Given the description of an element on the screen output the (x, y) to click on. 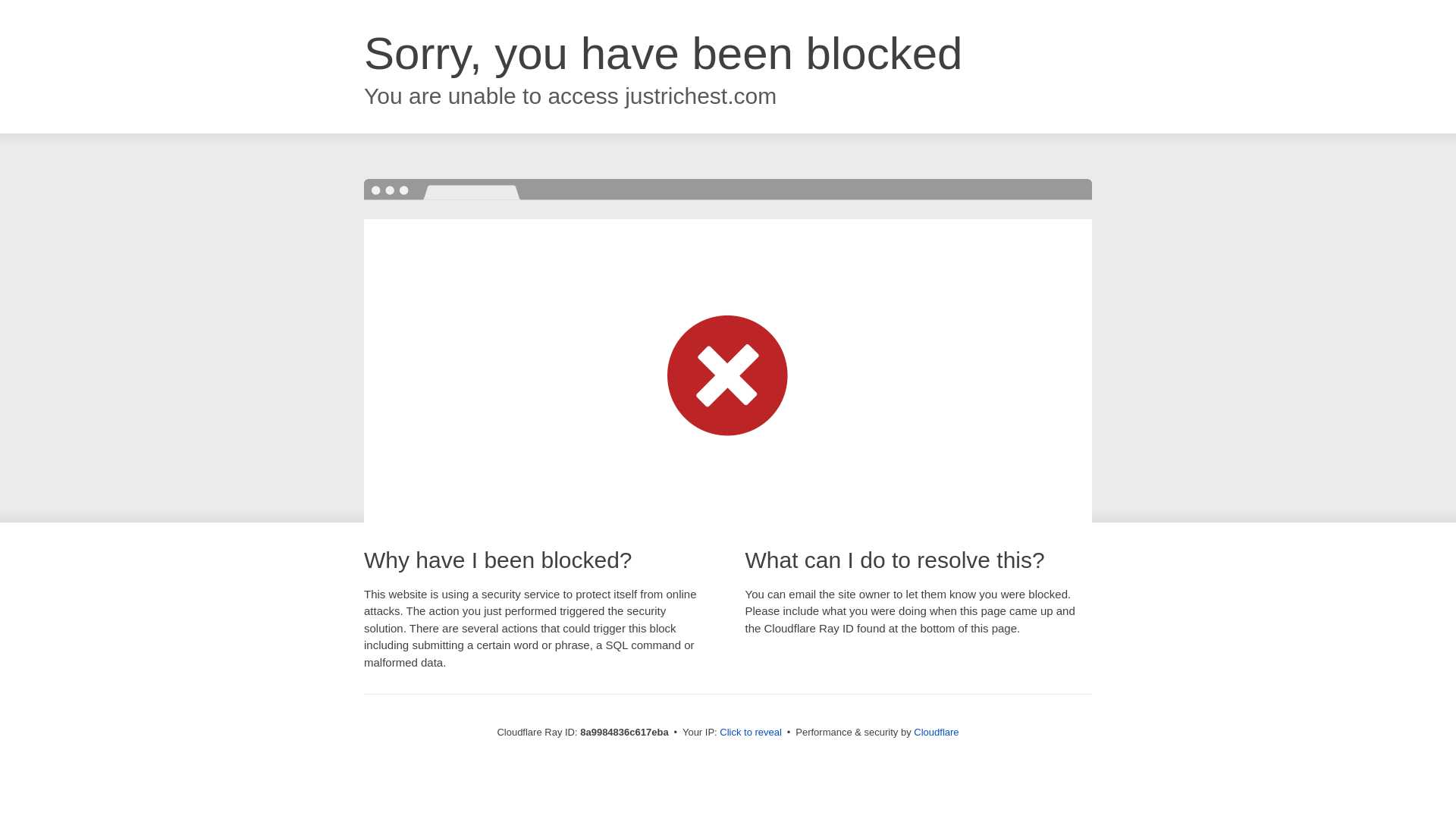
Cloudflare (936, 731)
Click to reveal (750, 732)
